Given the description of an element on the screen output the (x, y) to click on. 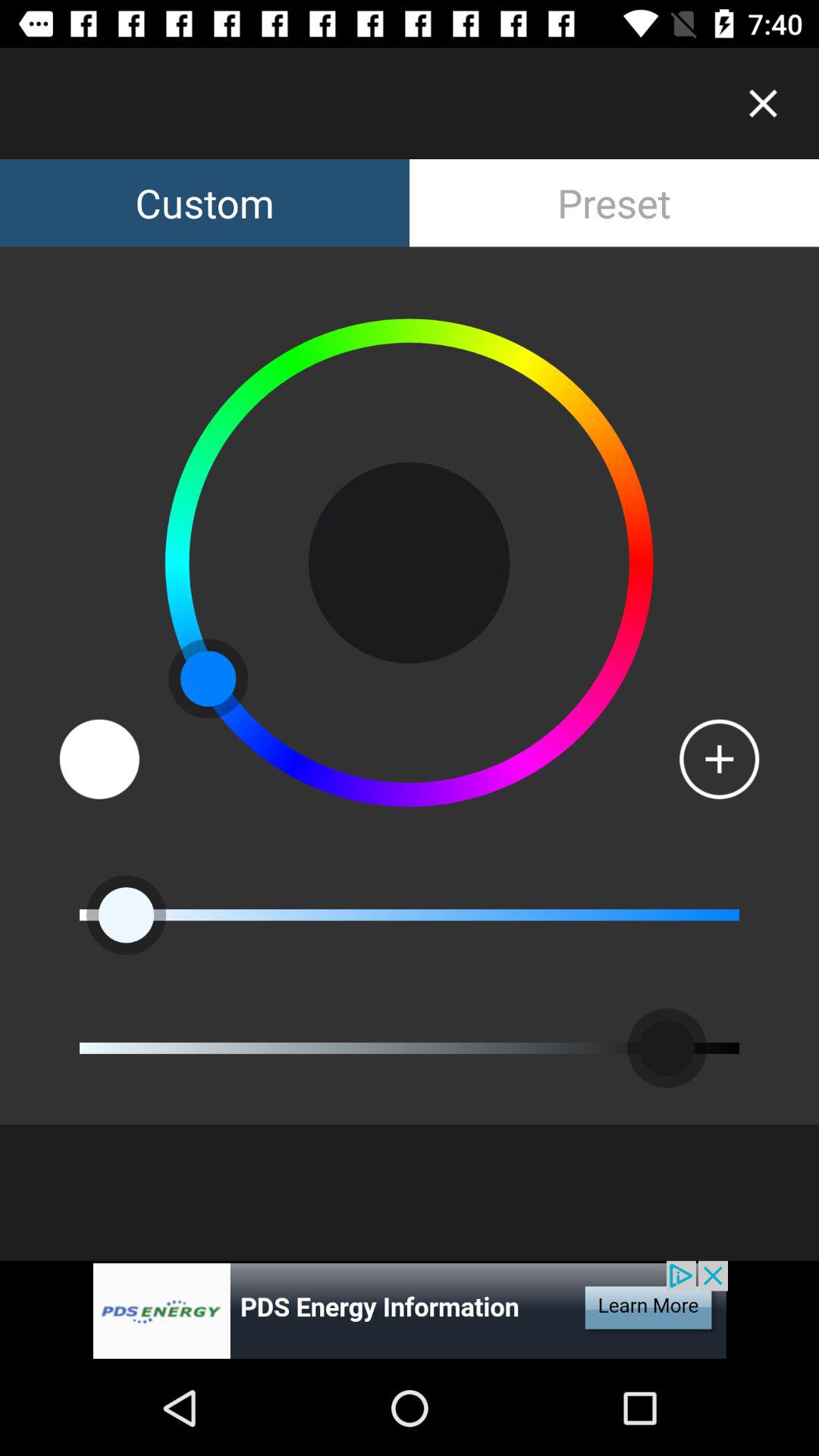
lean more option (409, 1310)
